Given the description of an element on the screen output the (x, y) to click on. 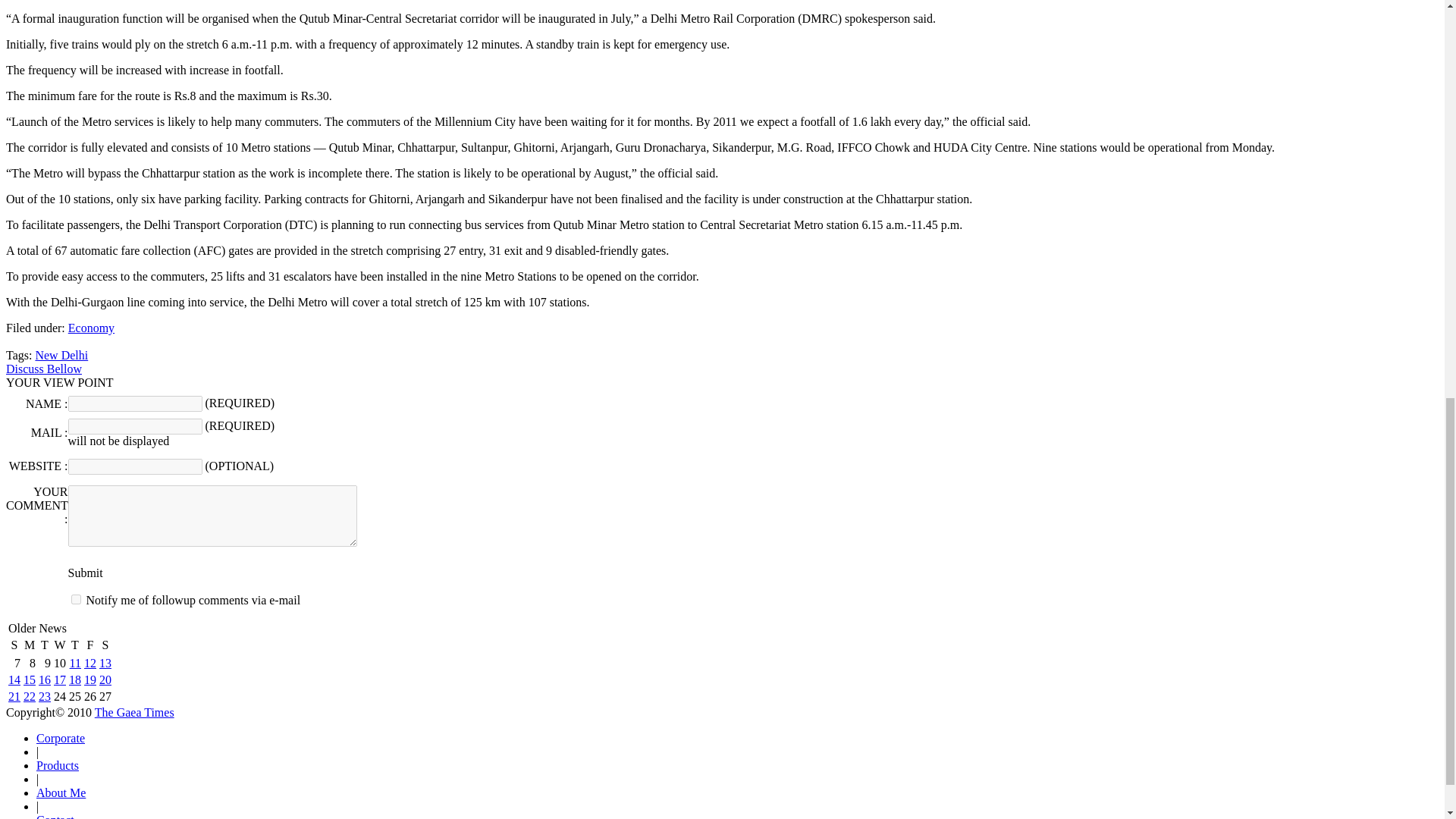
subscribe (76, 599)
New Delhi (60, 354)
Economy (91, 327)
